Given the description of an element on the screen output the (x, y) to click on. 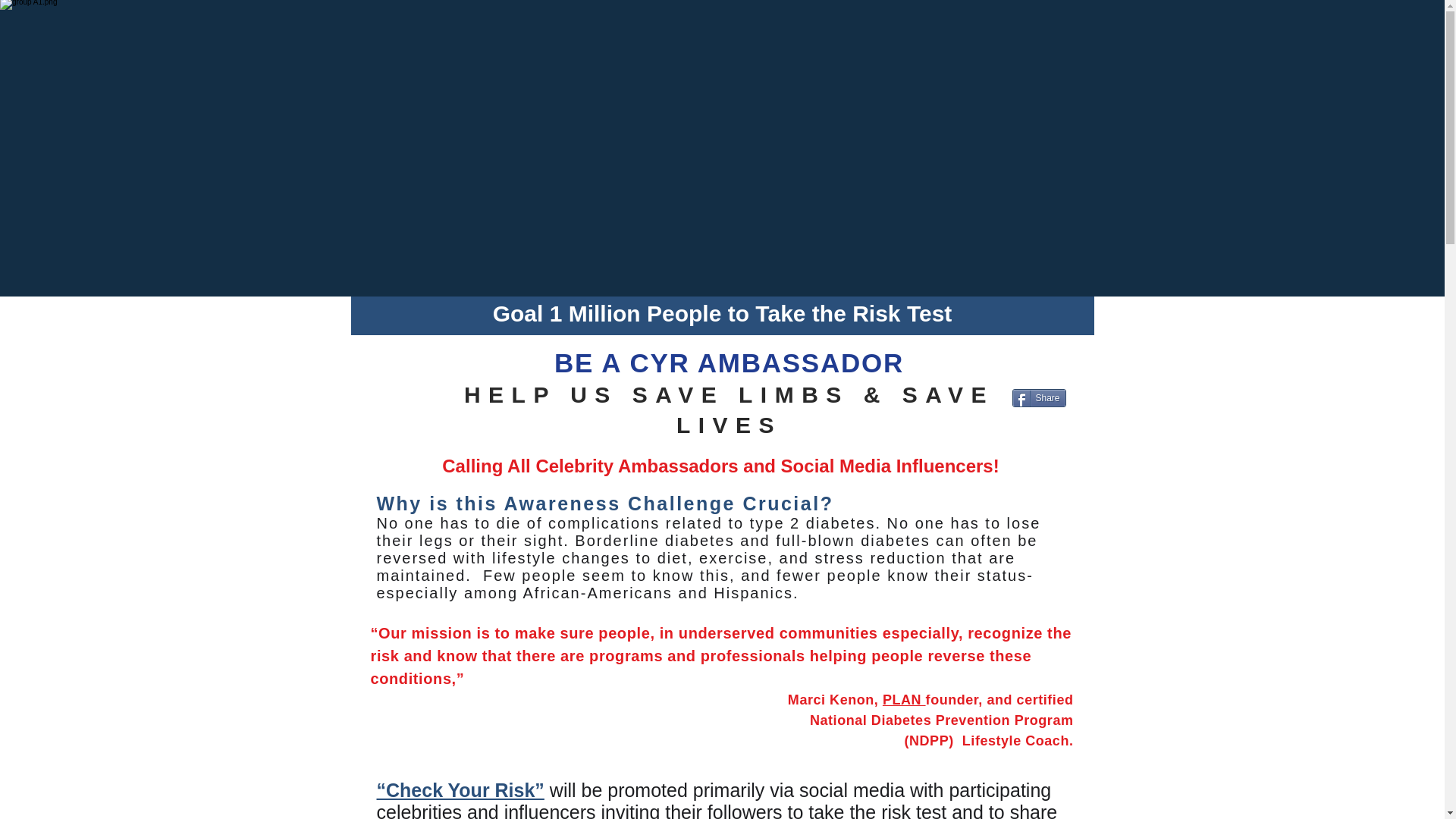
PLAN (904, 699)
Share (1038, 398)
Share (1038, 398)
